Given the description of an element on the screen output the (x, y) to click on. 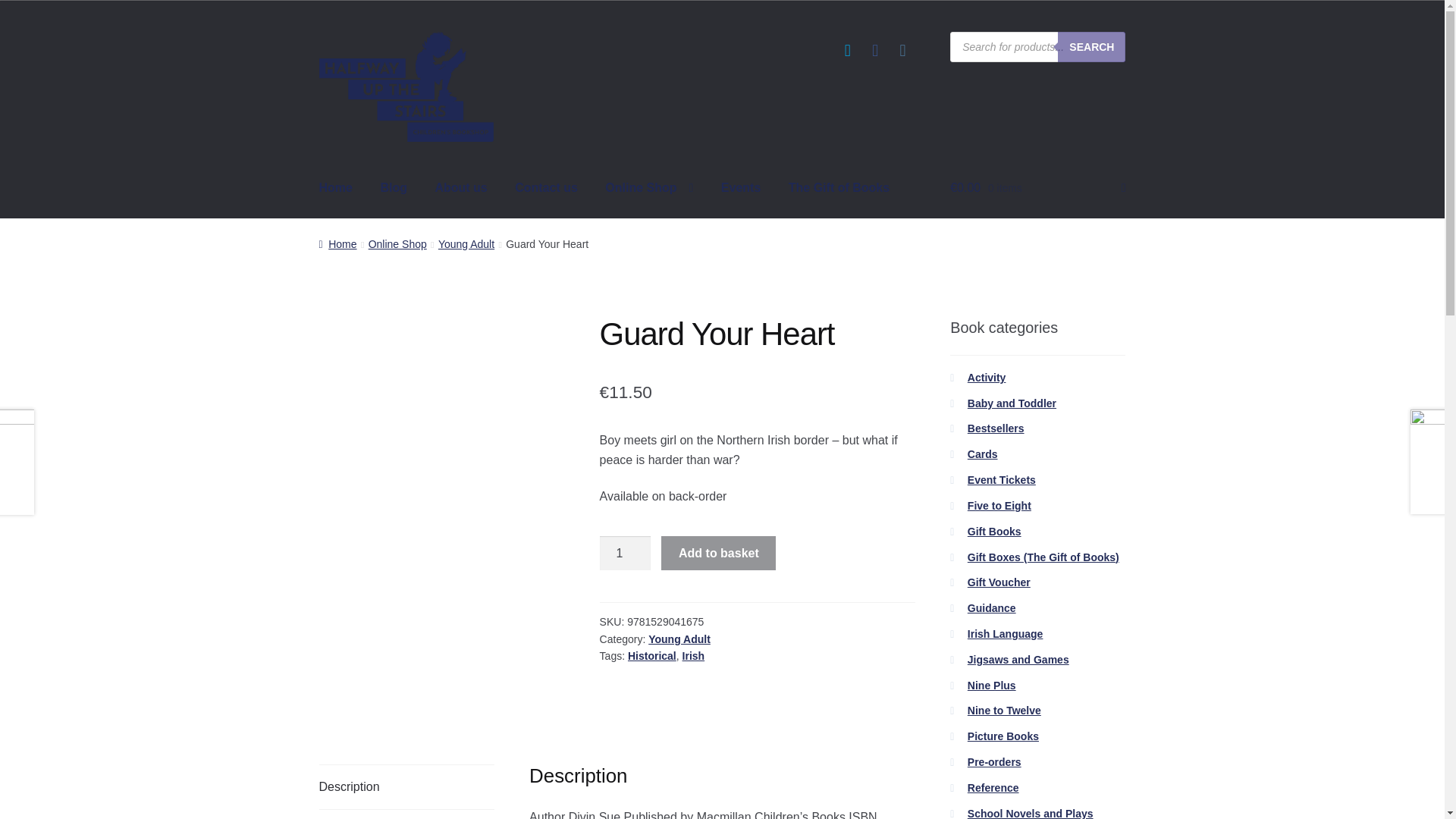
Home (337, 244)
The Gift of Books (838, 187)
Events (741, 187)
About us (460, 187)
1 (624, 553)
Home (336, 187)
SEARCH (1091, 46)
Online Shop (397, 244)
Young Adult (466, 244)
